Given the description of an element on the screen output the (x, y) to click on. 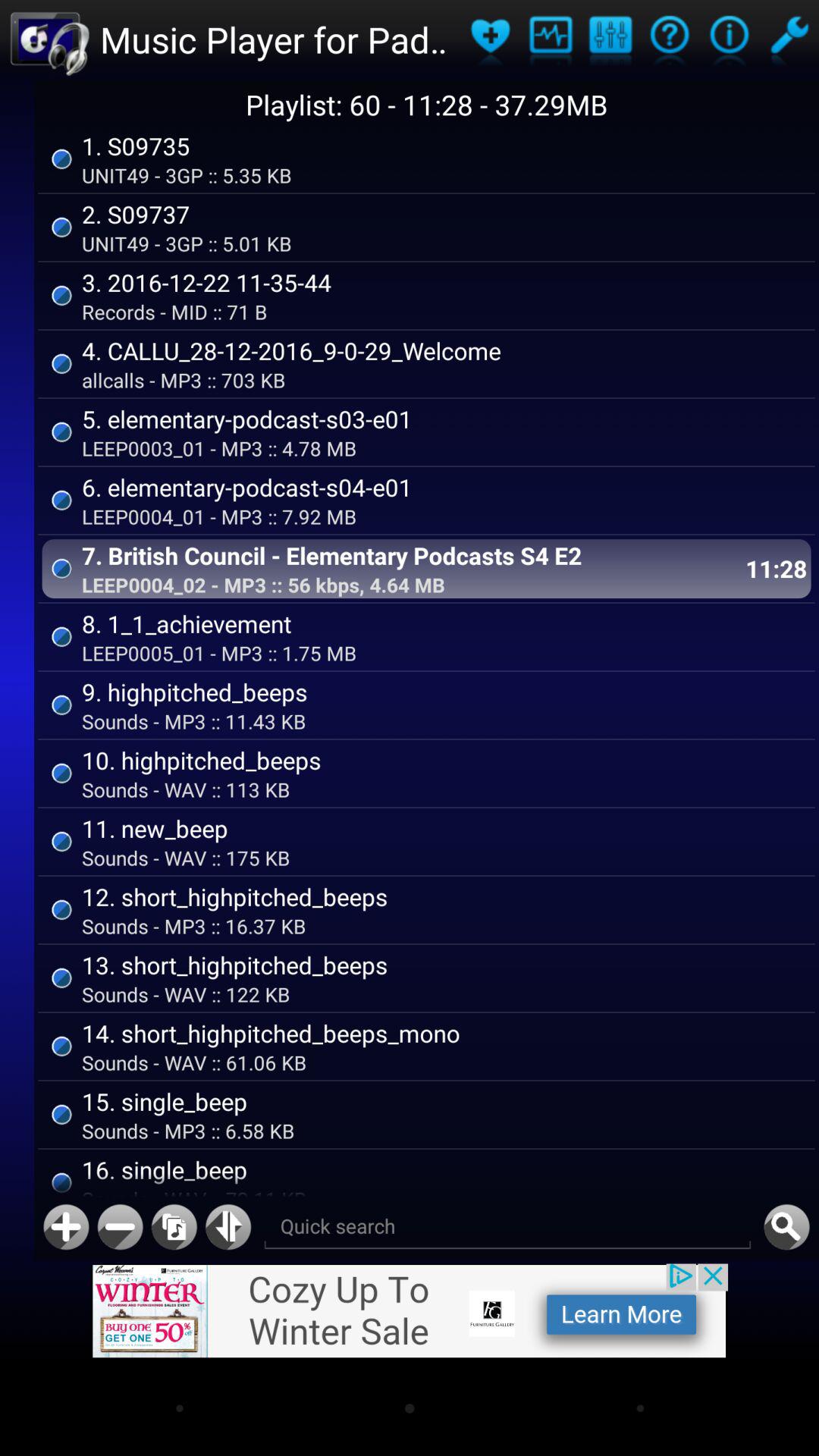
go to minimize (120, 1226)
